Given the description of an element on the screen output the (x, y) to click on. 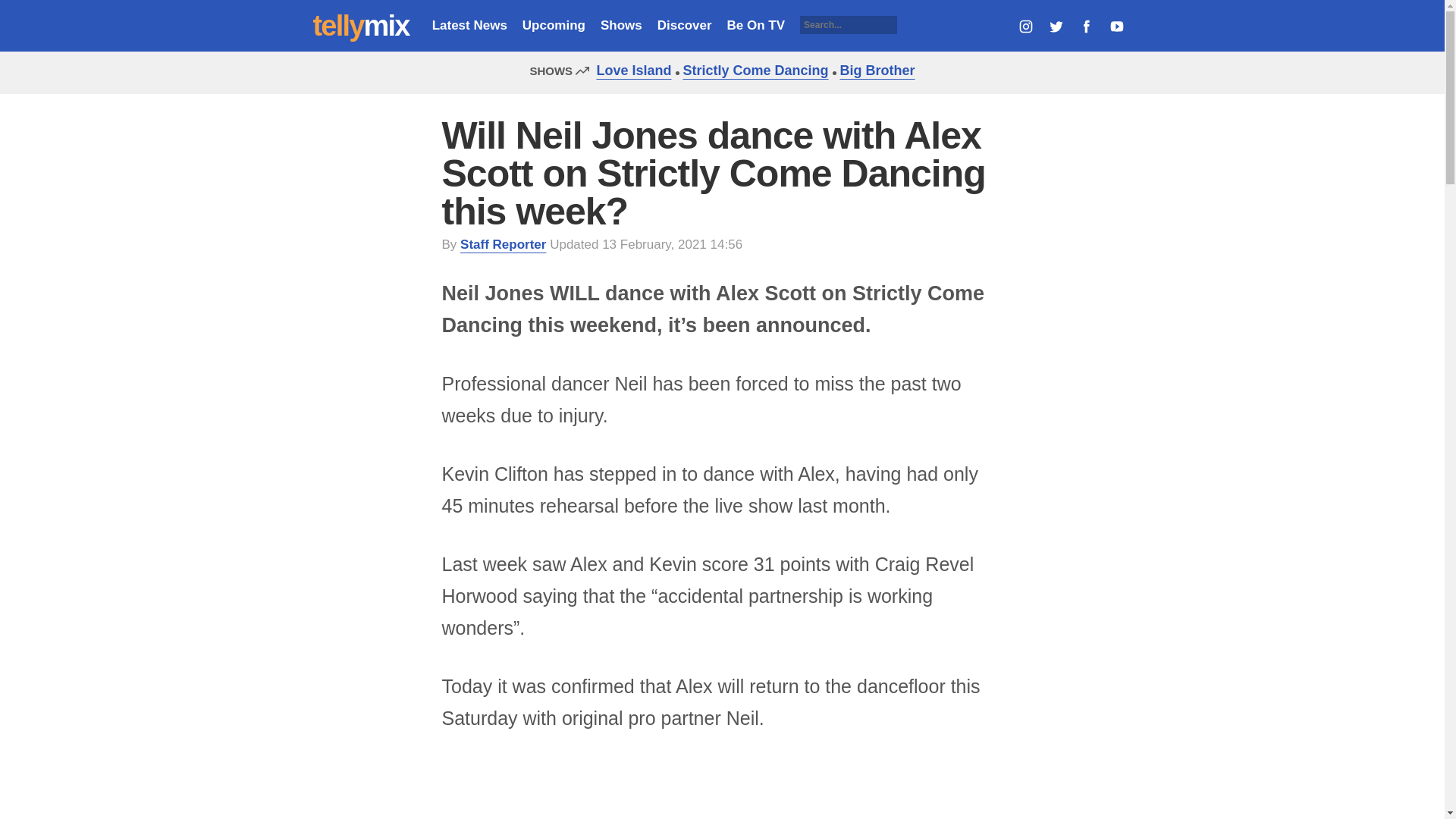
Be On TV (756, 25)
tellymix (361, 25)
Latest News (469, 25)
Big Brother (873, 70)
Strictly Come Dancing (751, 70)
Love Island (629, 70)
Staff Reporter (503, 244)
Discover (684, 25)
Shows (620, 25)
Upcoming (553, 25)
